Given the description of an element on the screen output the (x, y) to click on. 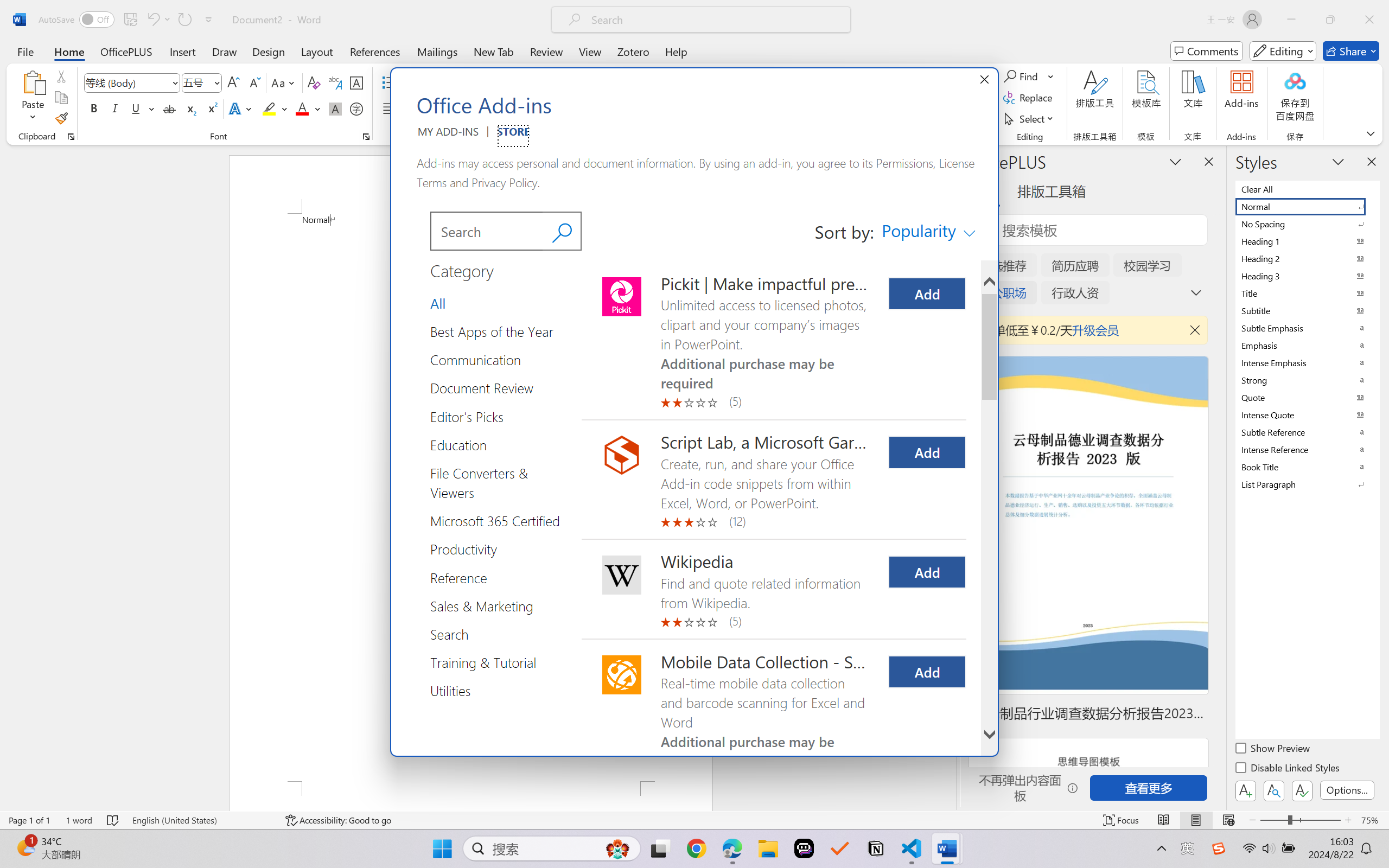
AutomationID: DynamicSearchBoxGleamImage (617, 848)
Comments (1206, 50)
Close (1369, 19)
Restore Down (1330, 19)
Class: NetUIButton (1301, 790)
Category Group Training & Tutorial 13 of 14 (487, 662)
Notion (875, 848)
Mode (1283, 50)
Draw (224, 51)
Category Group Editor's Picks 5 of 14 (470, 416)
Bold (94, 108)
